Given the description of an element on the screen output the (x, y) to click on. 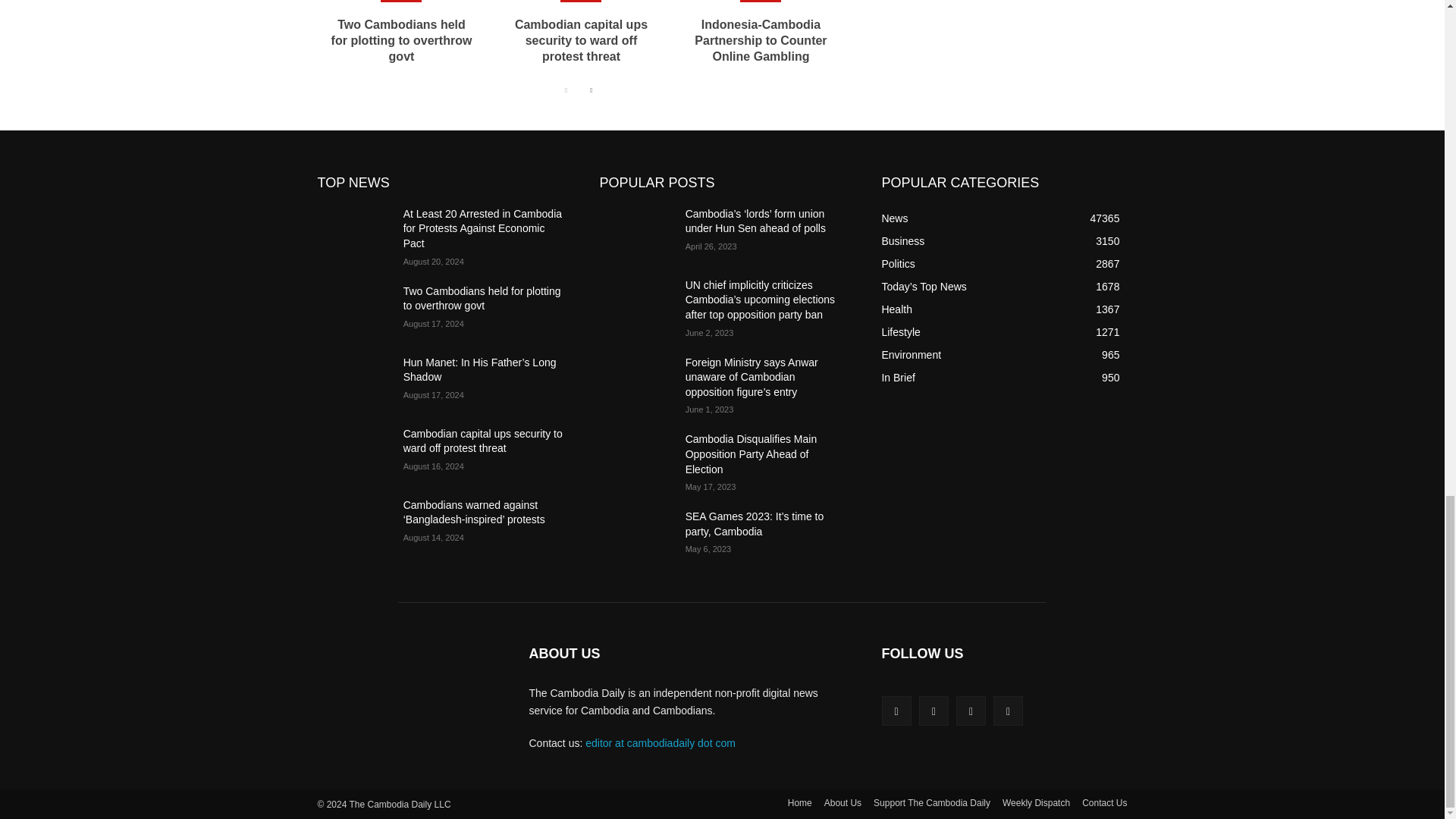
Two Cambodians held for plotting to overthrow govt (401, 40)
Cambodian capital ups security to ward off protest threat (581, 40)
Cambodian capital ups security to ward off protest threat (581, 40)
NEWS (759, 1)
NEWS (401, 1)
Indonesia-Cambodia Partnership to Counter Online Gambling (760, 40)
Two Cambodians held for plotting to overthrow govt (401, 40)
NEWS (580, 1)
